Given the description of an element on the screen output the (x, y) to click on. 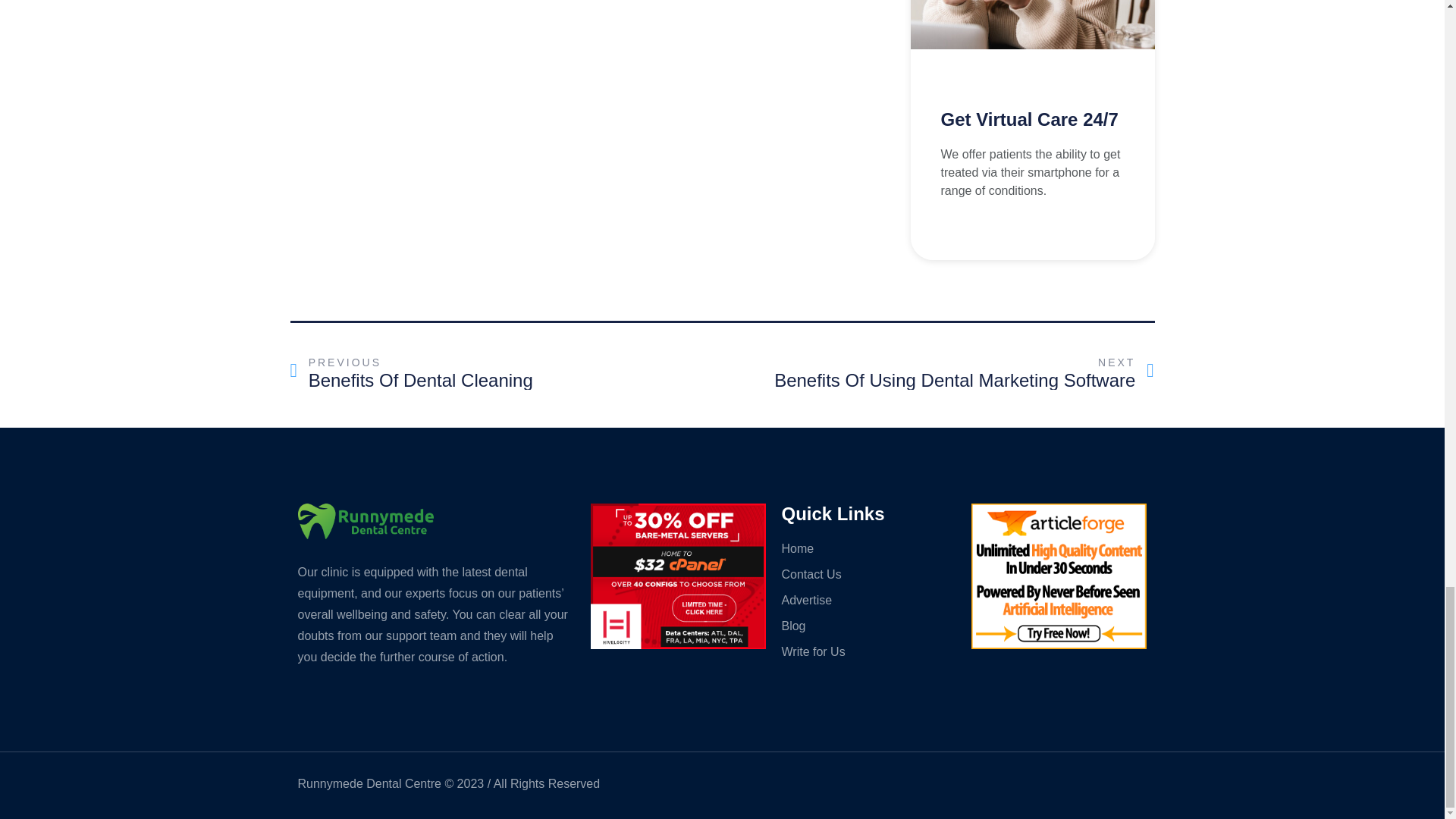
Contact Us (868, 574)
Advertise (505, 370)
Blog (868, 600)
Write for Us (868, 626)
Home (868, 651)
